Given the description of an element on the screen output the (x, y) to click on. 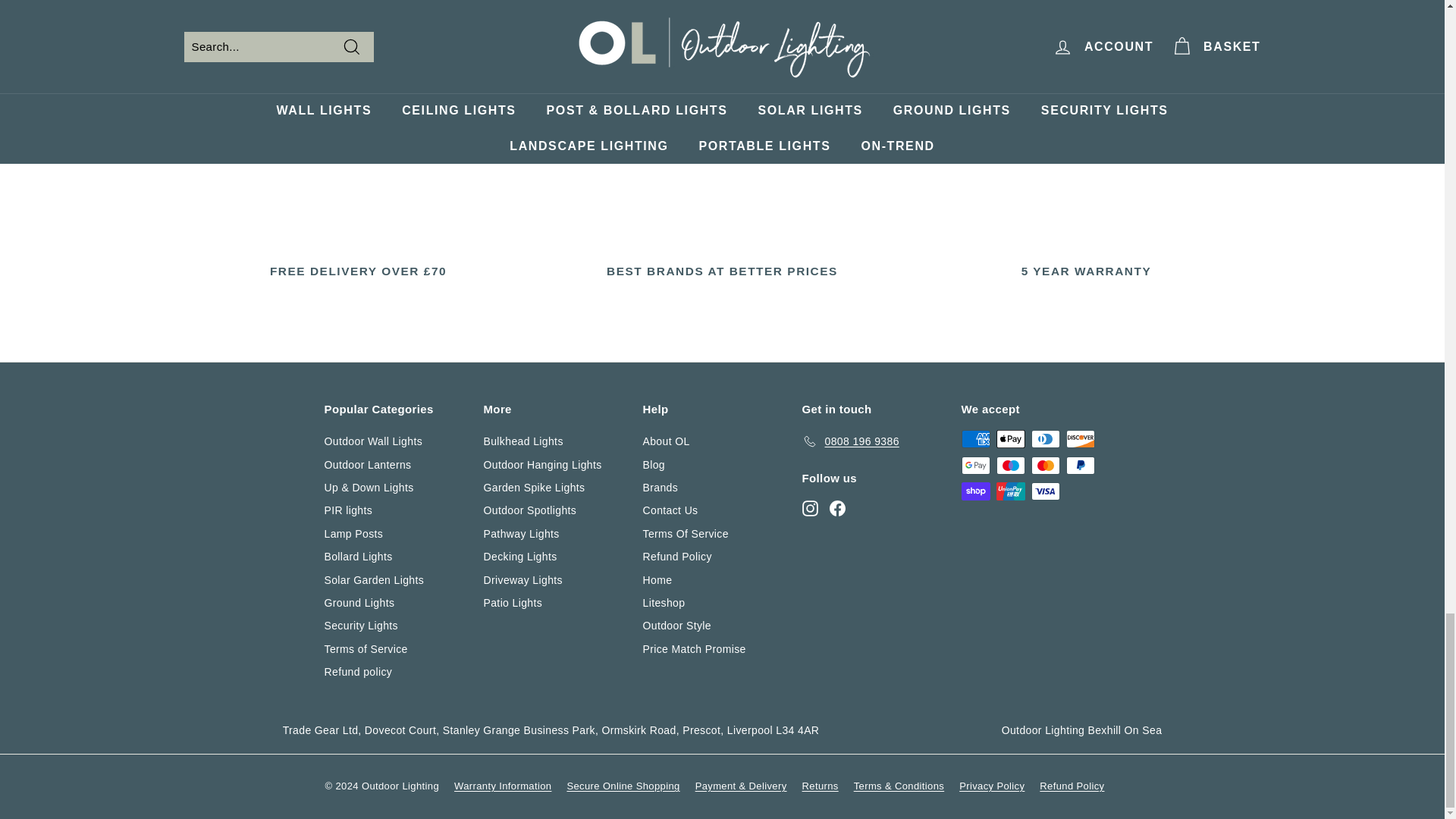
Discover (1079, 438)
Apple Pay (1010, 438)
Maestro (1010, 465)
Mastercard (1044, 465)
Diners Club (1044, 438)
American Express (975, 438)
PayPal (1079, 465)
Outdoor Lighting on Instagram (810, 507)
Google Pay (975, 465)
